Given the description of an element on the screen output the (x, y) to click on. 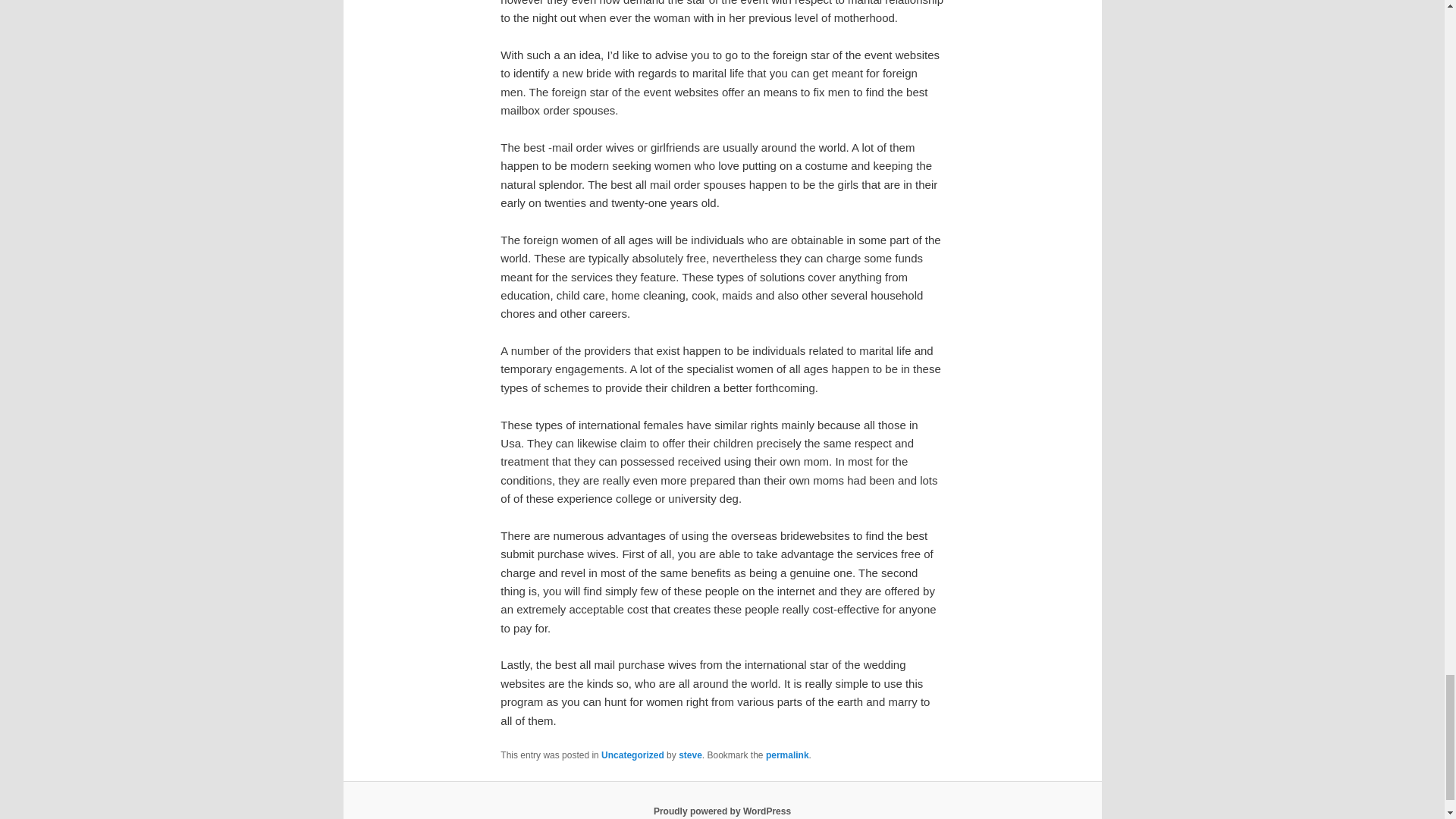
steve (689, 755)
permalink (787, 755)
Proudly powered by WordPress (721, 810)
Semantic Personal Publishing Platform (721, 810)
Uncategorized (632, 755)
